Given the description of an element on the screen output the (x, y) to click on. 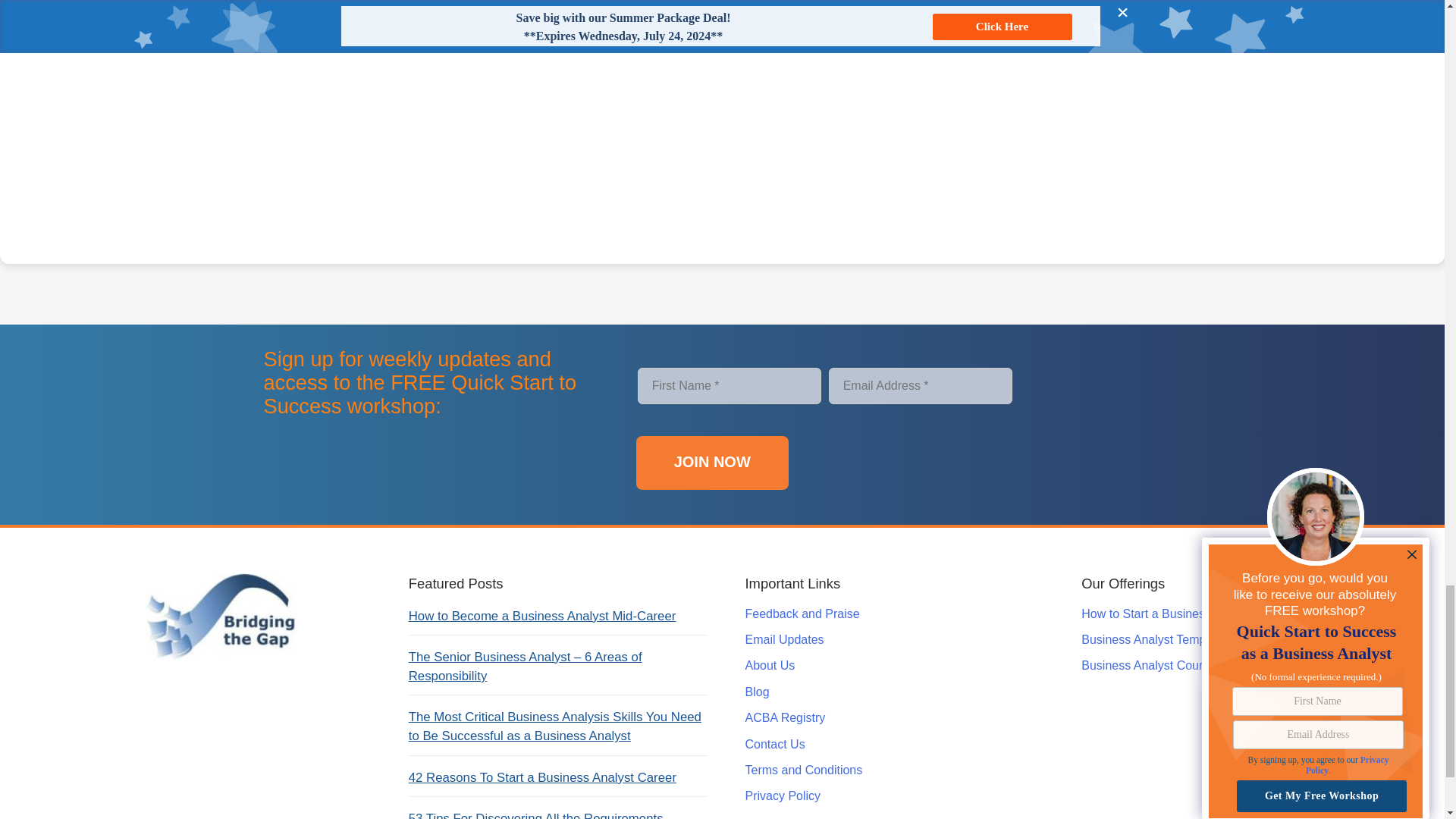
42 Reasons To Start a Business Analyst Career (543, 777)
How to Become a Business Analyst Mid-Career (543, 616)
53 Tips For Discovering All the Requirements (536, 815)
JOIN NOW (712, 462)
